Given the description of an element on the screen output the (x, y) to click on. 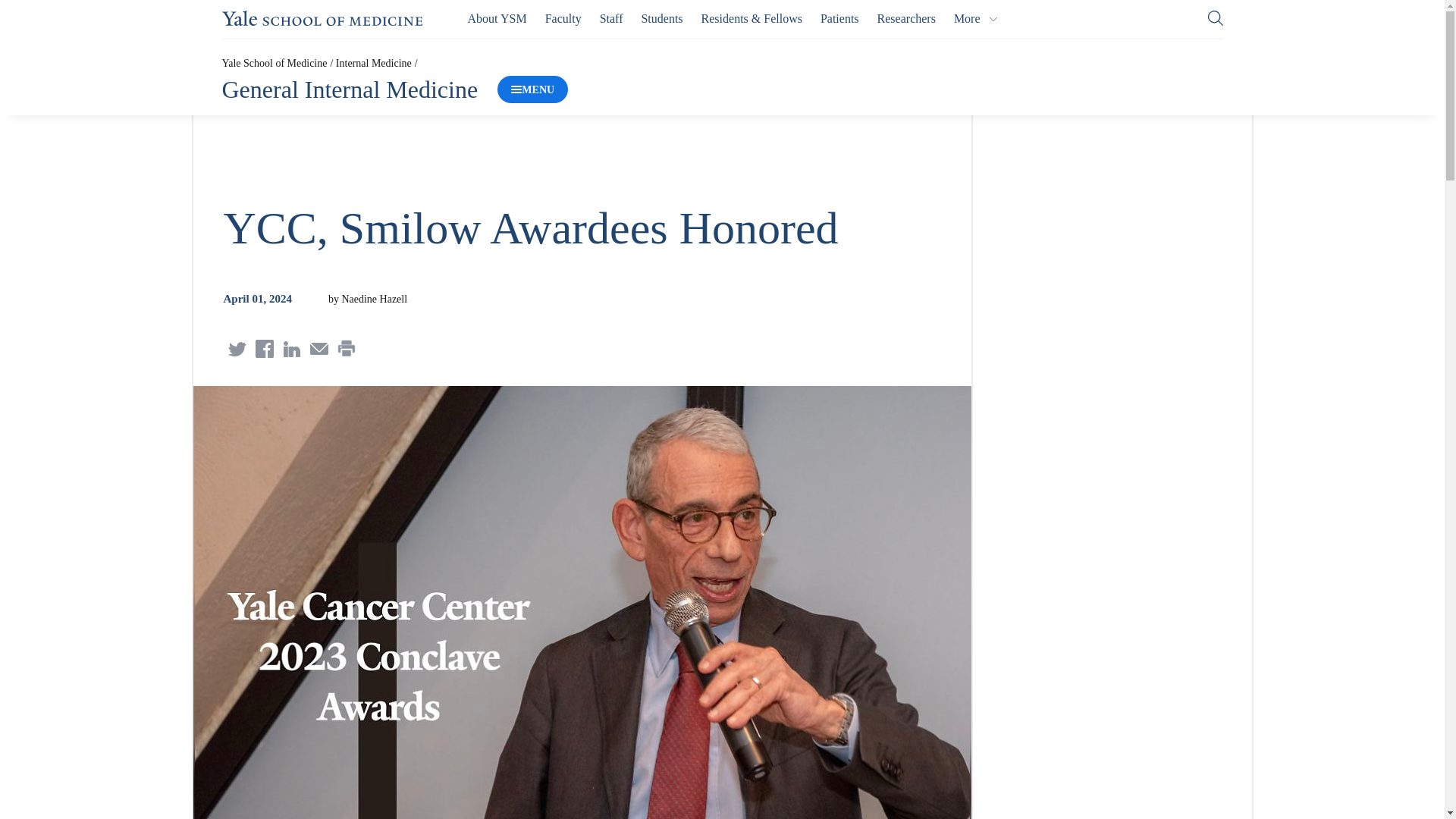
MENU (532, 89)
Staff (611, 18)
About YSM (497, 18)
General Internal Medicine (349, 89)
Yale School of Medicine (321, 17)
Faculty (562, 18)
Students (661, 18)
Patients (840, 18)
More (975, 18)
Internal Medicine (374, 62)
